Given the description of an element on the screen output the (x, y) to click on. 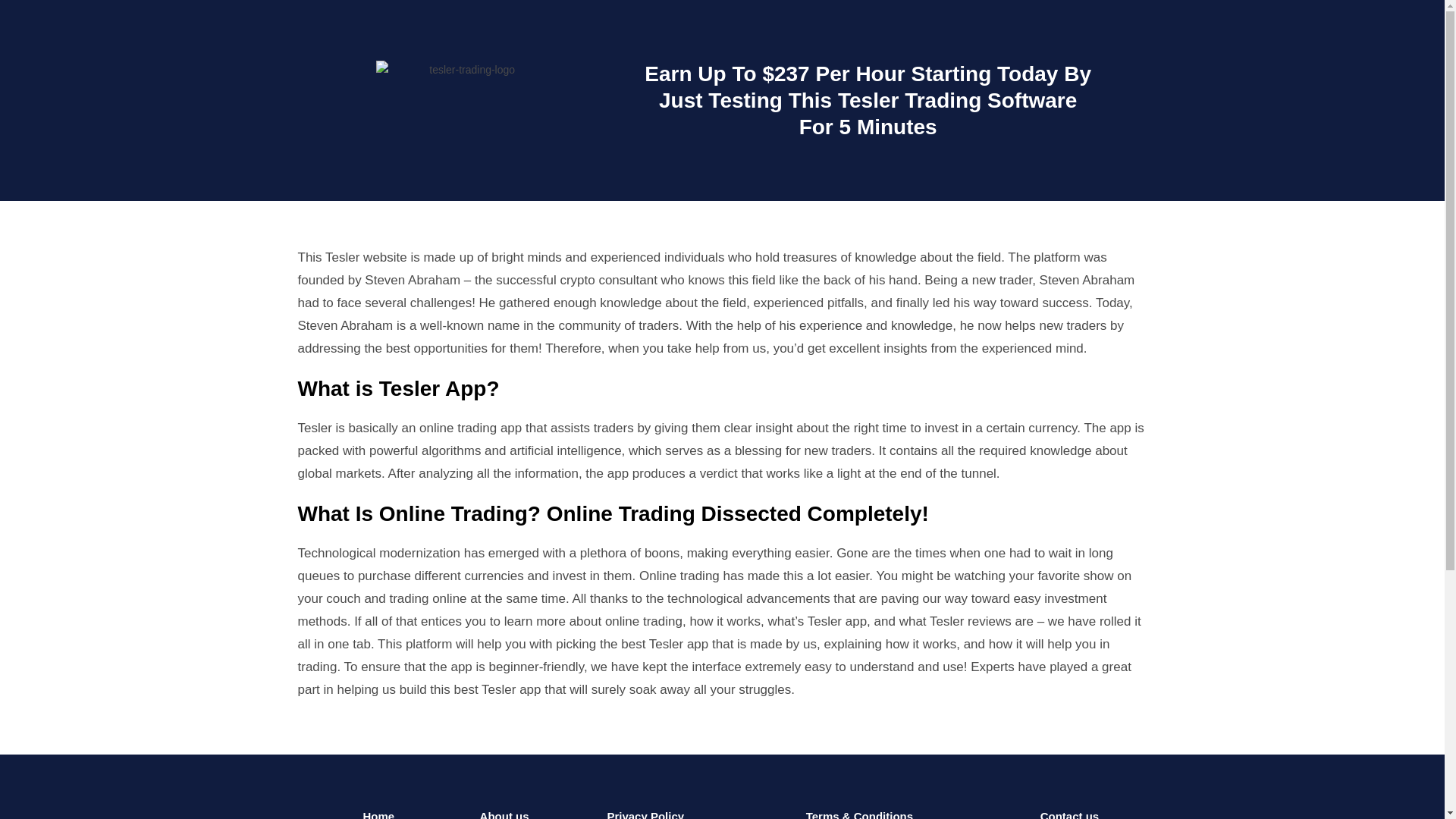
Contact us (1070, 814)
Privacy Policy (645, 814)
About us (504, 814)
Home (378, 814)
